Given the description of an element on the screen output the (x, y) to click on. 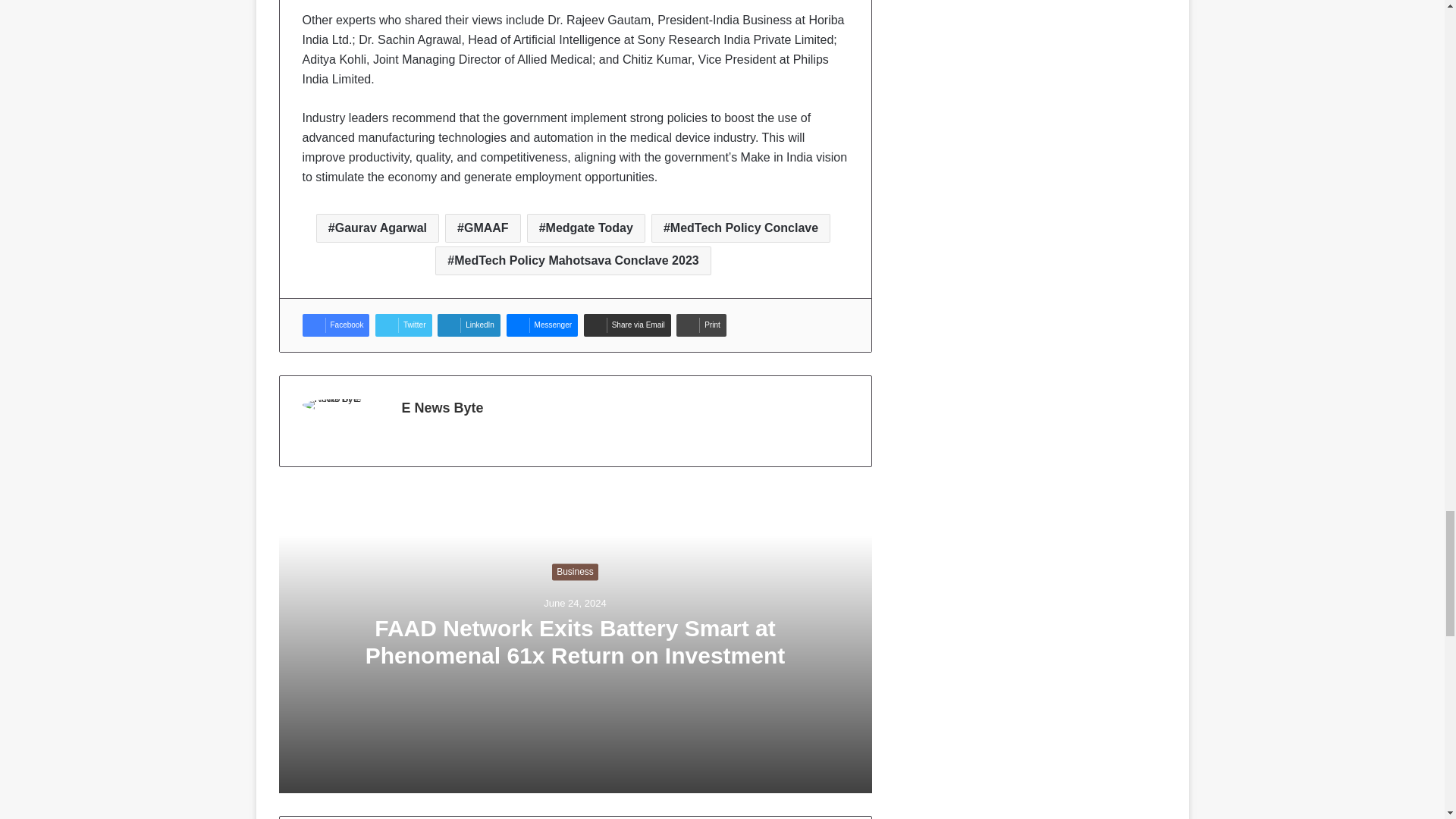
Facebook (335, 324)
Share via Email (627, 324)
Messenger (542, 324)
Print (701, 324)
LinkedIn (469, 324)
Twitter (402, 324)
